Given the description of an element on the screen output the (x, y) to click on. 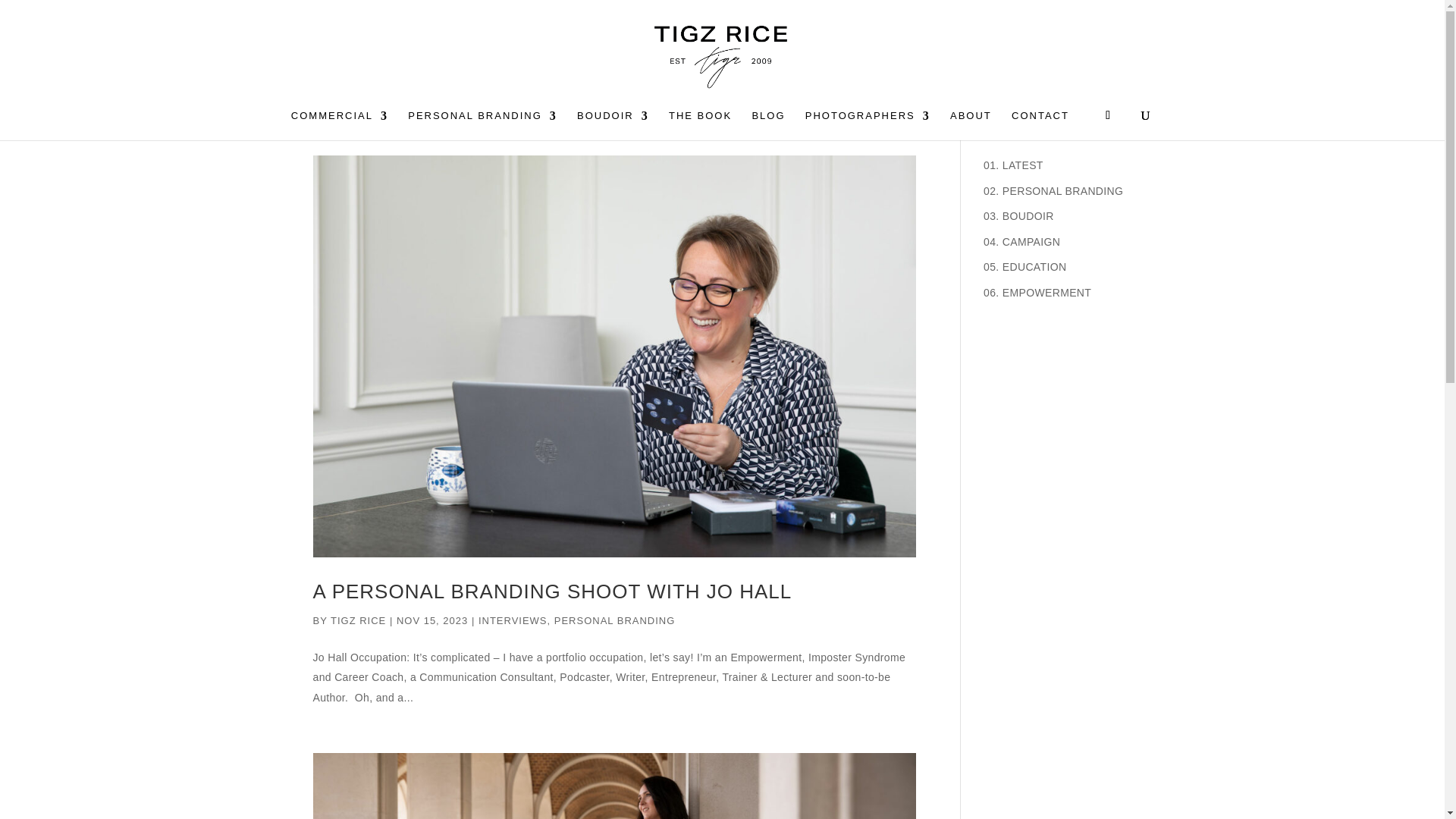
PHOTOGRAPHERS (867, 125)
PERSONAL BRANDING (482, 125)
TIGZ RICE (357, 620)
COMMERCIAL (339, 125)
A PERSONAL BRANDING SHOOT WITH JO HALL (552, 590)
BLOG (767, 125)
PERSONAL BRANDING (614, 620)
Posts by Tigz Rice (357, 620)
BOUDOIR (612, 125)
ABOUT (970, 125)
CONTACT (1039, 125)
INTERVIEWS (513, 620)
THE BOOK (700, 125)
